Given the description of an element on the screen output the (x, y) to click on. 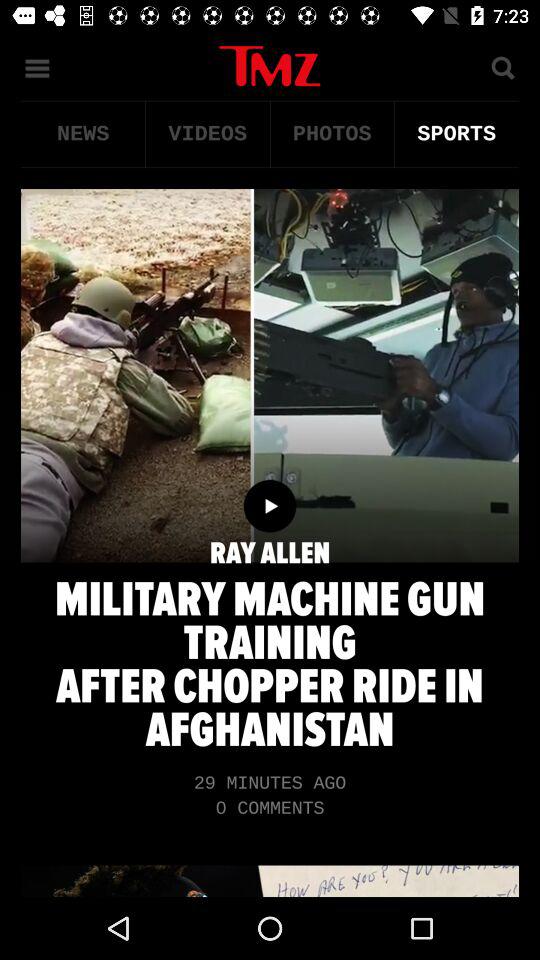
choose the item next to videos item (332, 133)
